Given the description of an element on the screen output the (x, y) to click on. 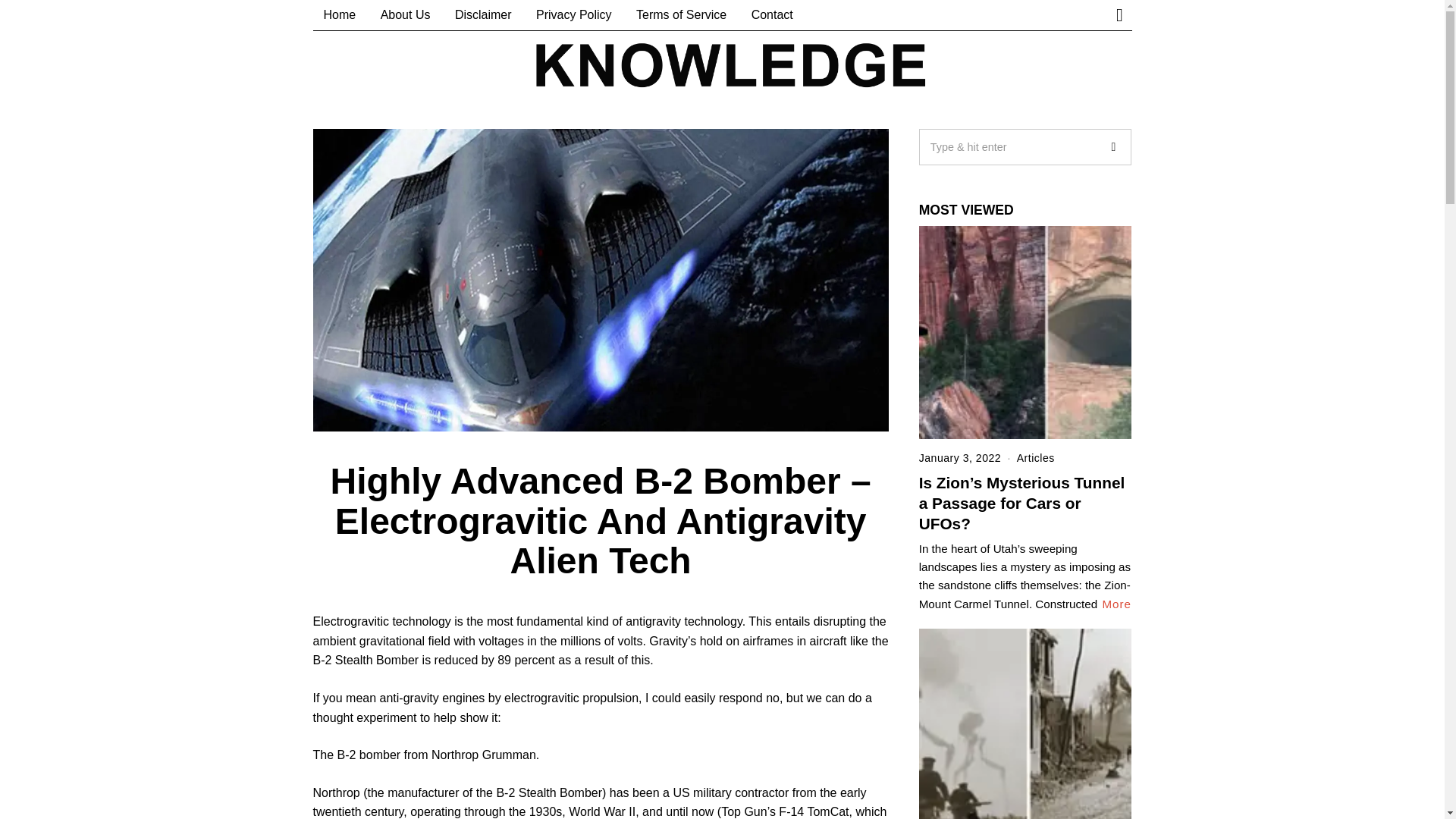
More (1116, 604)
Home (339, 15)
Privacy Policy (574, 15)
Disclaimer (483, 15)
Articles (1035, 458)
About Us (405, 15)
Go (1112, 146)
Contact (772, 15)
Terms of Service (681, 15)
